Given the description of an element on the screen output the (x, y) to click on. 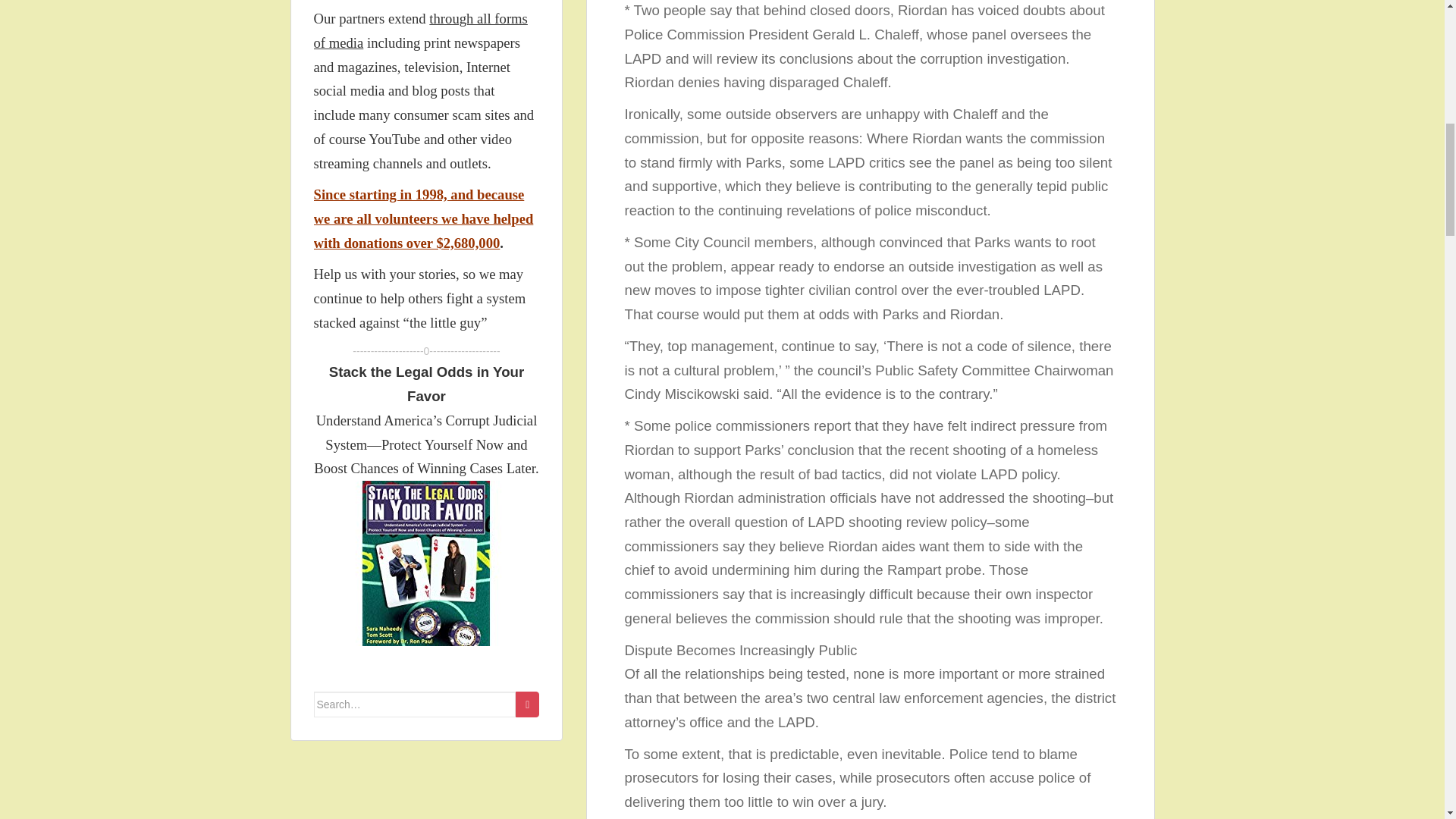
Search for: (415, 704)
Search (526, 704)
